Given the description of an element on the screen output the (x, y) to click on. 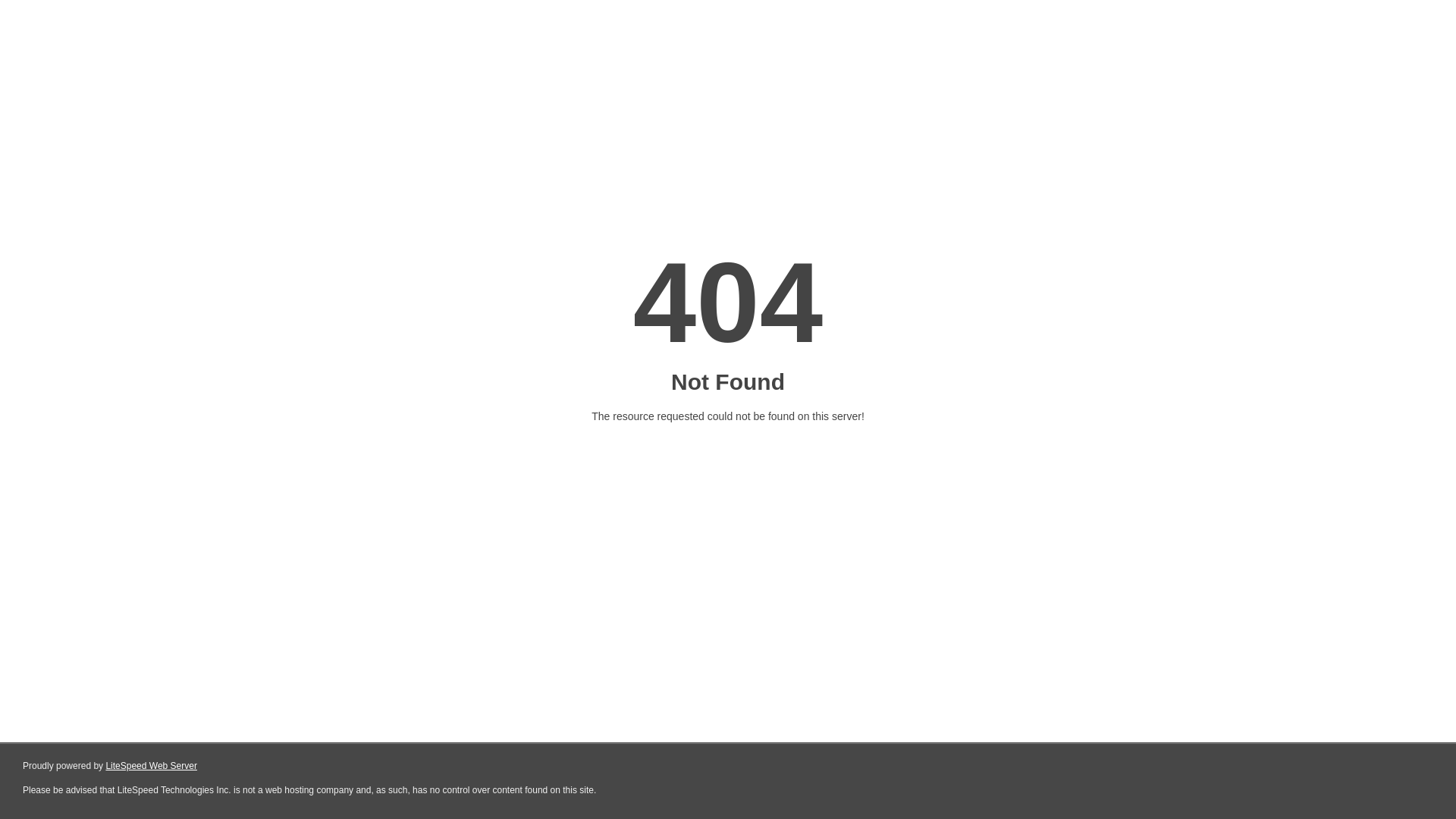
LiteSpeed Web Server Element type: text (151, 765)
